Given the description of an element on the screen output the (x, y) to click on. 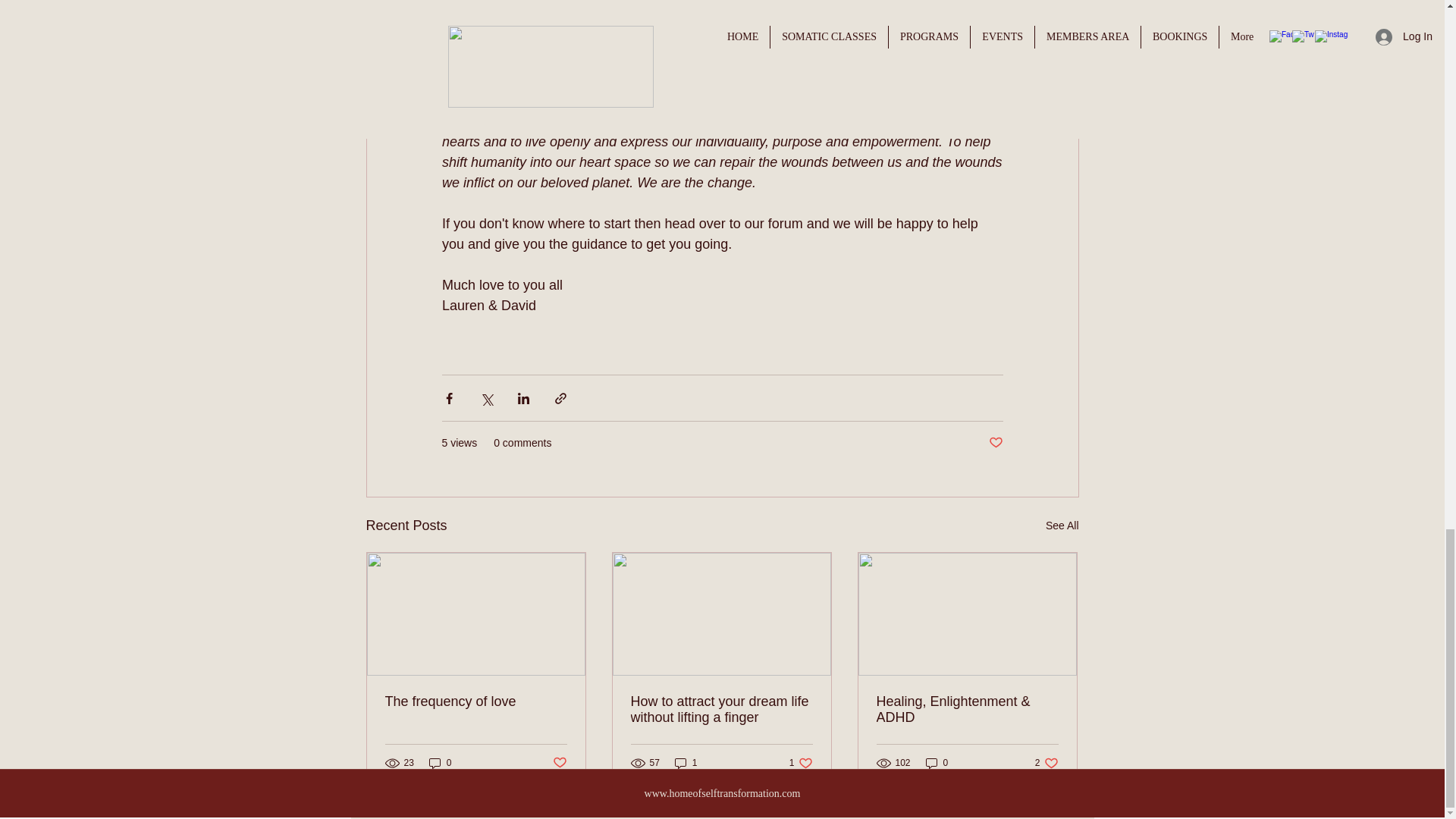
Post not marked as liked (558, 762)
See All (1061, 526)
www.homeofselftransformation.com (722, 793)
1 (685, 762)
How to attract your dream life without lifting a finger (721, 709)
0 (937, 762)
Post not marked as liked (1046, 762)
The frequency of love (995, 442)
0 (476, 701)
